Given the description of an element on the screen output the (x, y) to click on. 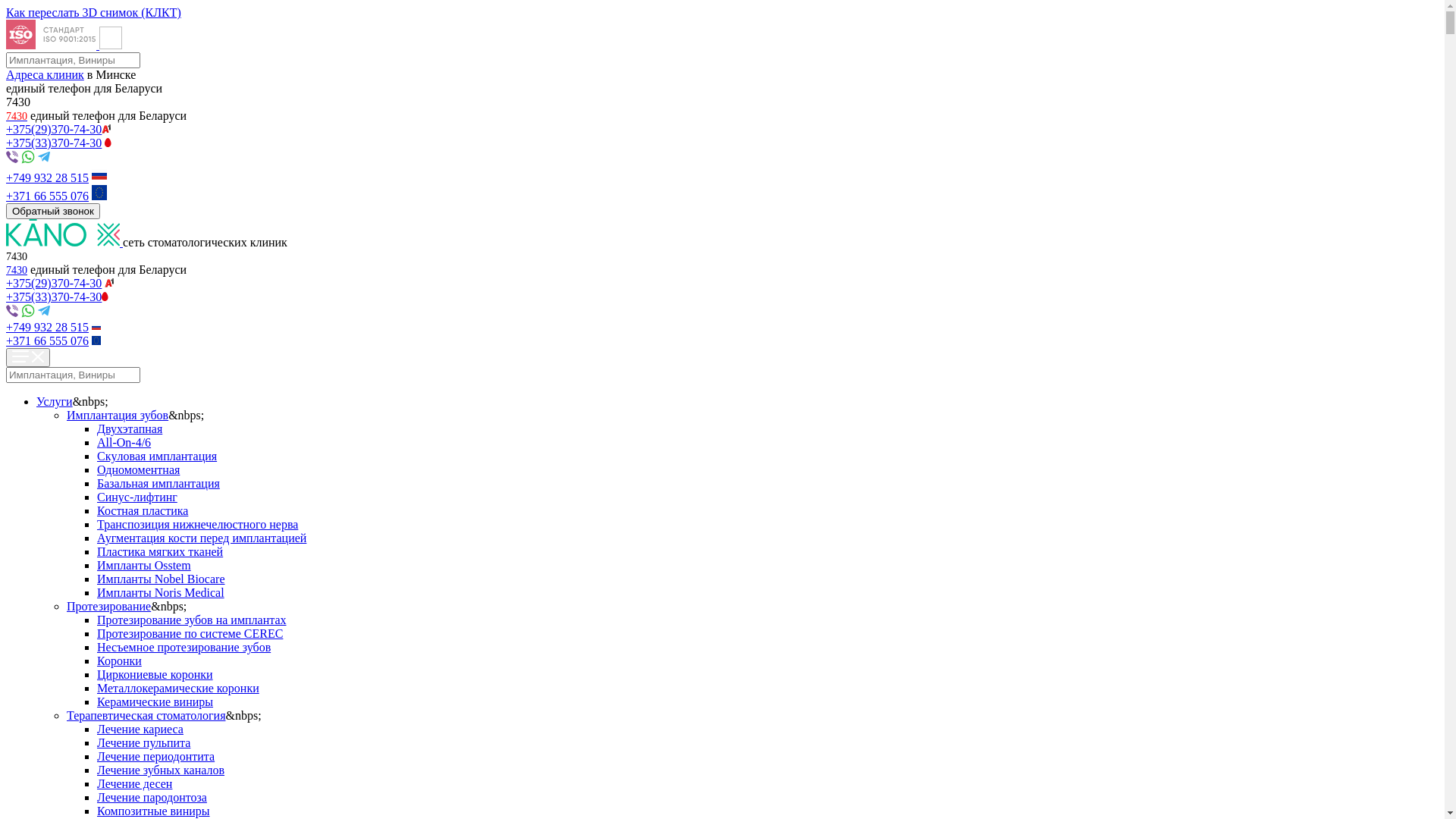
7430 Element type: text (16, 115)
All-On-4/6 Element type: text (123, 442)
+371 66 555 076 Element type: text (47, 340)
+375(33)370-74-30 Element type: text (53, 296)
+375(29)370-74-30 Element type: text (53, 128)
+371 66 555 076 Element type: text (47, 195)
7430 Element type: text (16, 269)
+749 932 28 515 Element type: text (47, 177)
+375(29)370-74-30 Element type: text (53, 282)
+375(33)370-74-30 Element type: text (53, 142)
+749 932 28 515 Element type: text (47, 326)
